Given the description of an element on the screen output the (x, y) to click on. 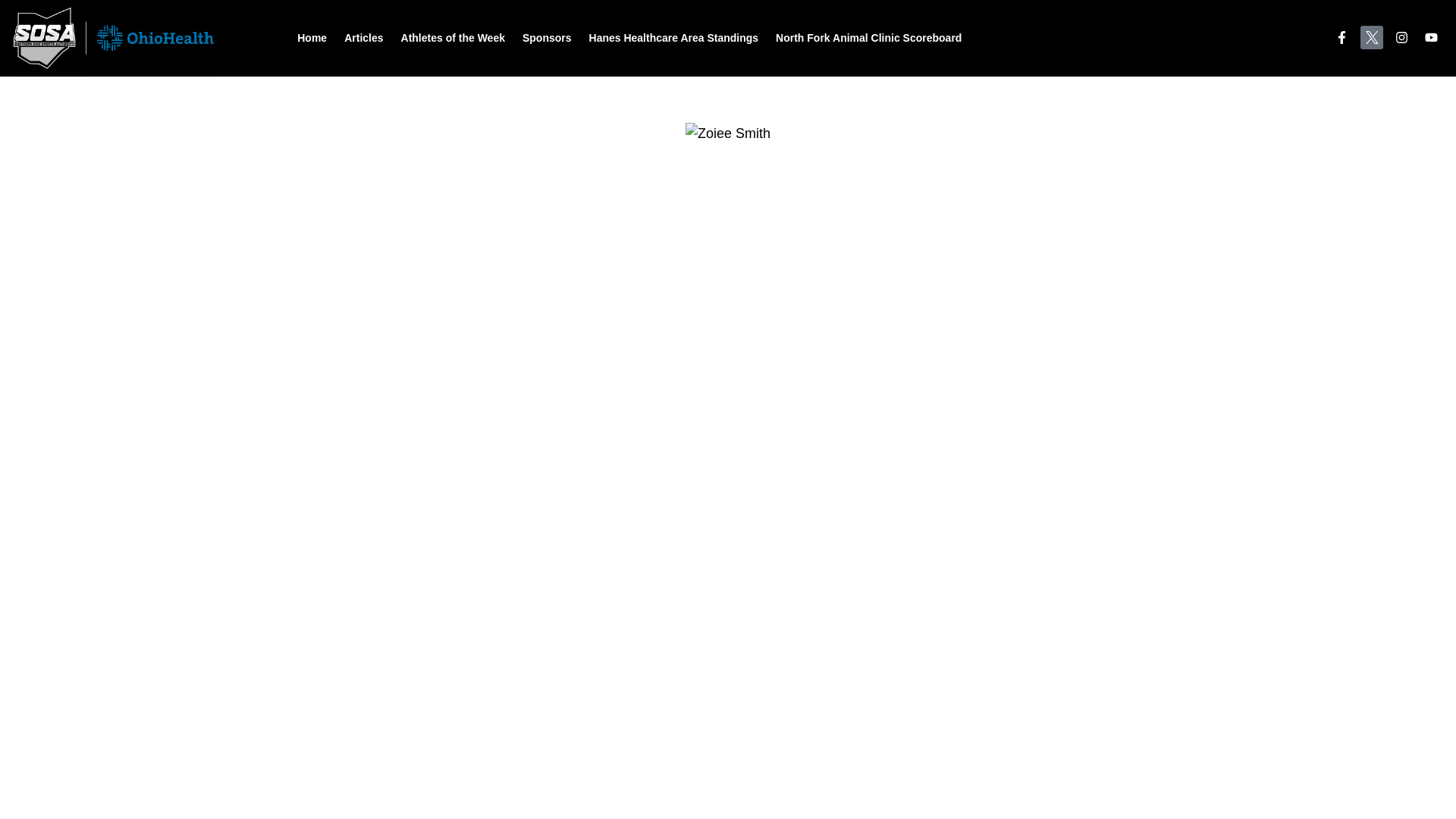
North Fork Animal Clinic Scoreboard (868, 37)
Zoiee Smith (727, 133)
Home (311, 37)
Hanes Healthcare Area Standings (673, 37)
Sponsors (547, 37)
Articles (363, 37)
Athletes of the Week (452, 37)
